Given the description of an element on the screen output the (x, y) to click on. 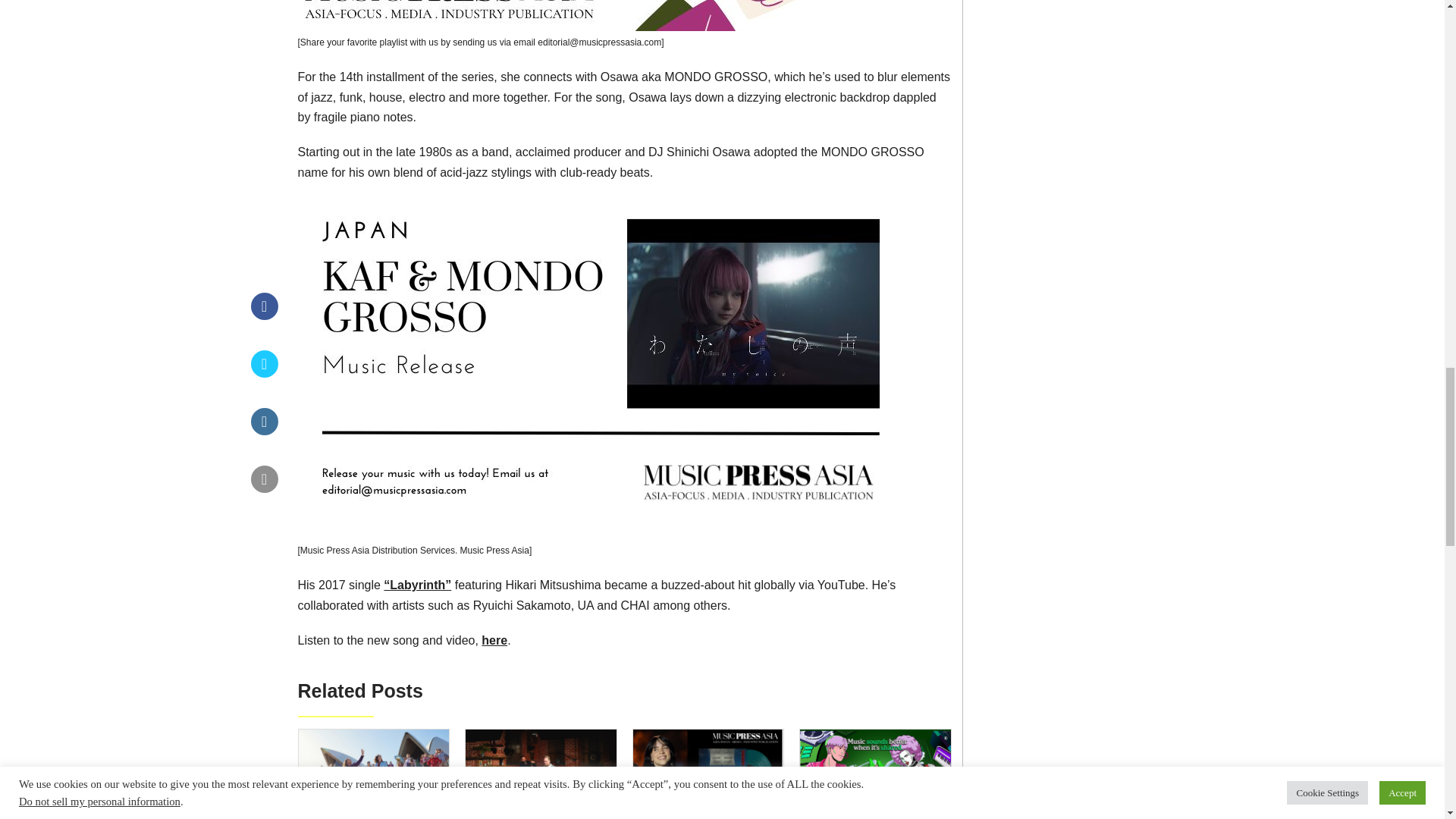
Billie Eilish: Hit Me Hard and Soft (707, 771)
